Given the description of an element on the screen output the (x, y) to click on. 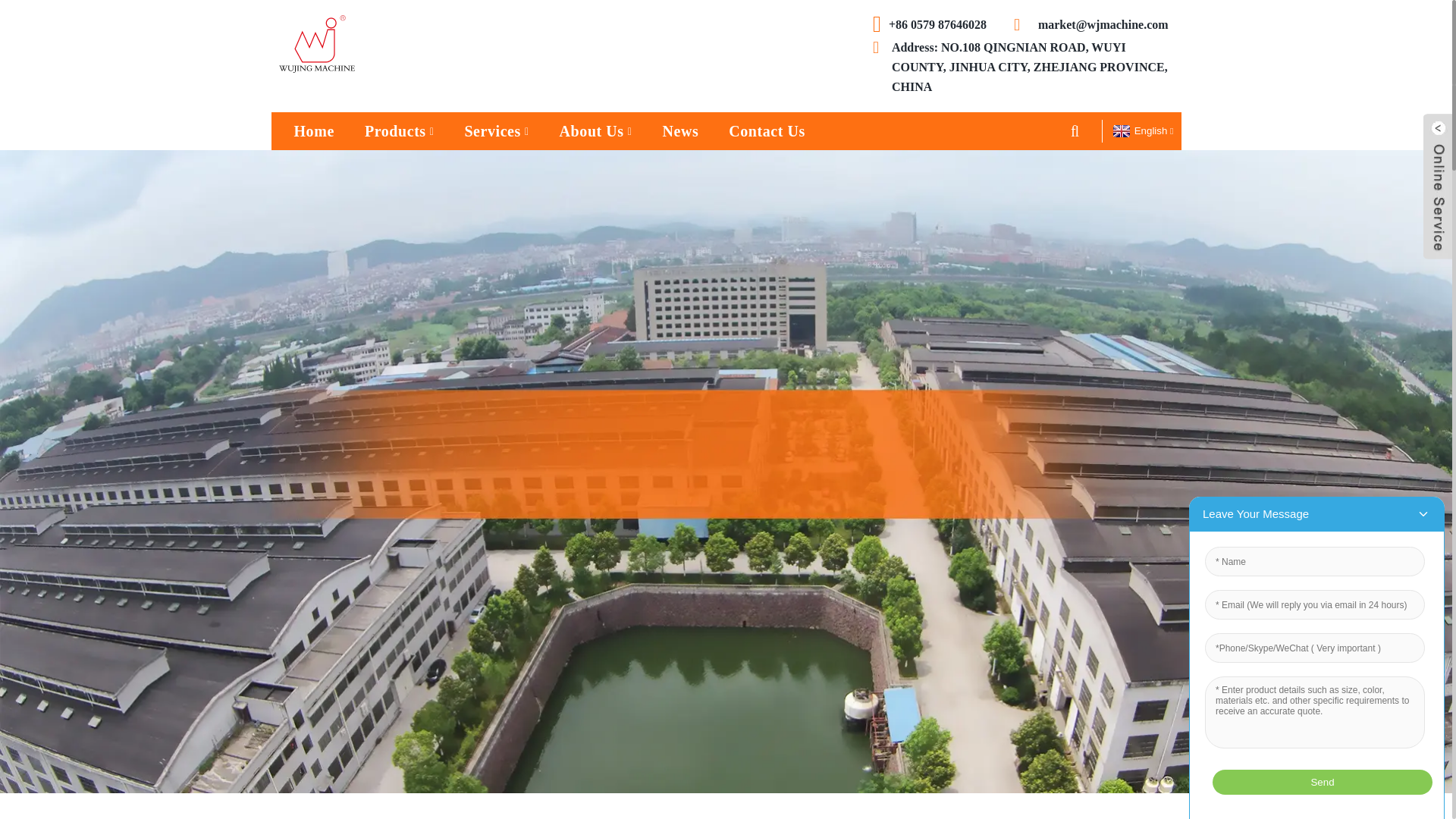
Contact Us (767, 130)
About Us (595, 131)
English (1141, 130)
News (679, 130)
Services (495, 131)
Products (399, 131)
Home (314, 130)
